Given the description of an element on the screen output the (x, y) to click on. 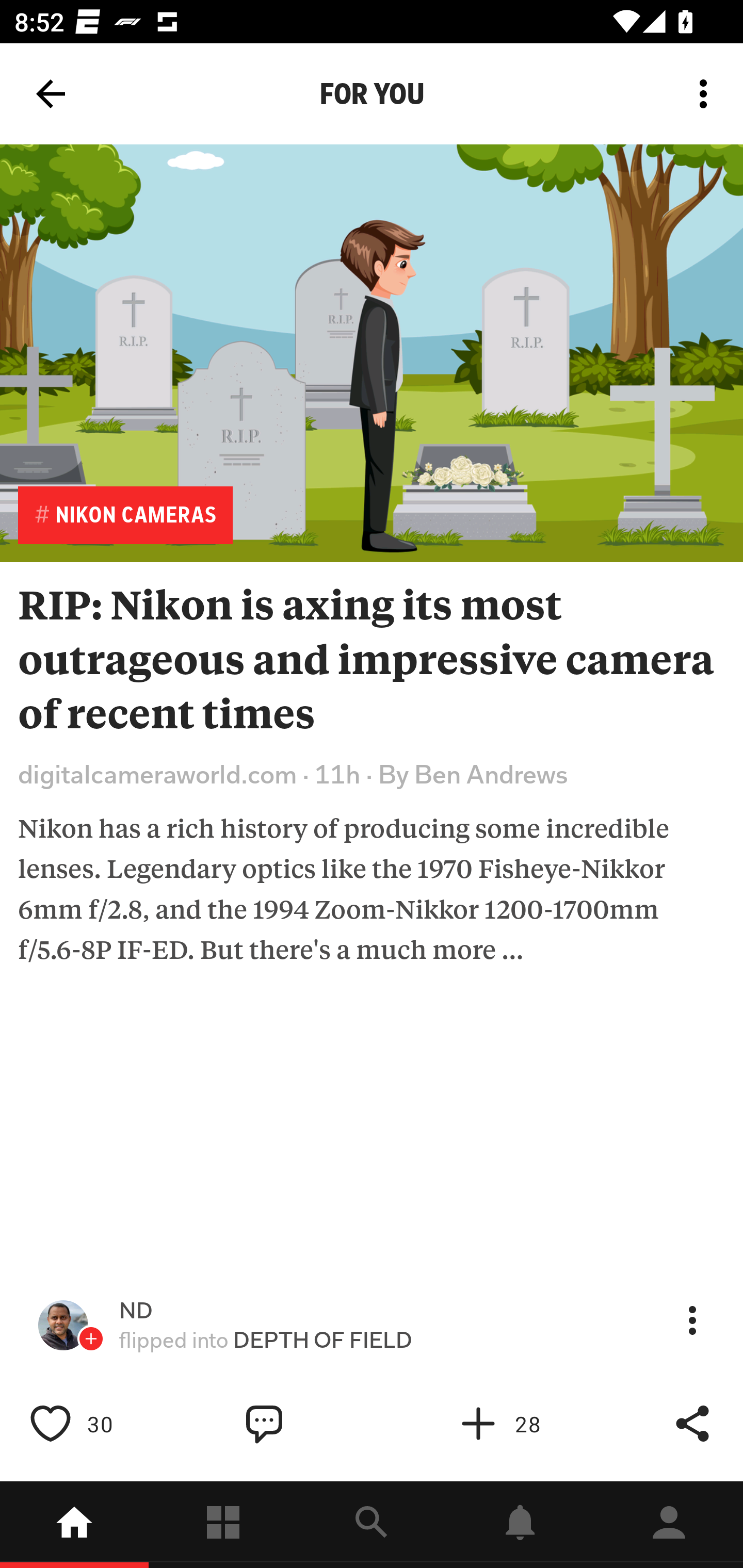
Back (50, 93)
FOR YOU (371, 93)
More options (706, 93)
# NIKON CAMERAS (124, 515)
More (692, 1319)
ND (135, 1310)
flipped into DEPTH OF FIELD (265, 1339)
Like 30 (93, 1423)
Write a comment… (307, 1423)
Flip into Magazine 28 (521, 1423)
home (74, 1524)
Following (222, 1524)
explore (371, 1524)
Notifications (519, 1524)
Profile (668, 1524)
